Given the description of an element on the screen output the (x, y) to click on. 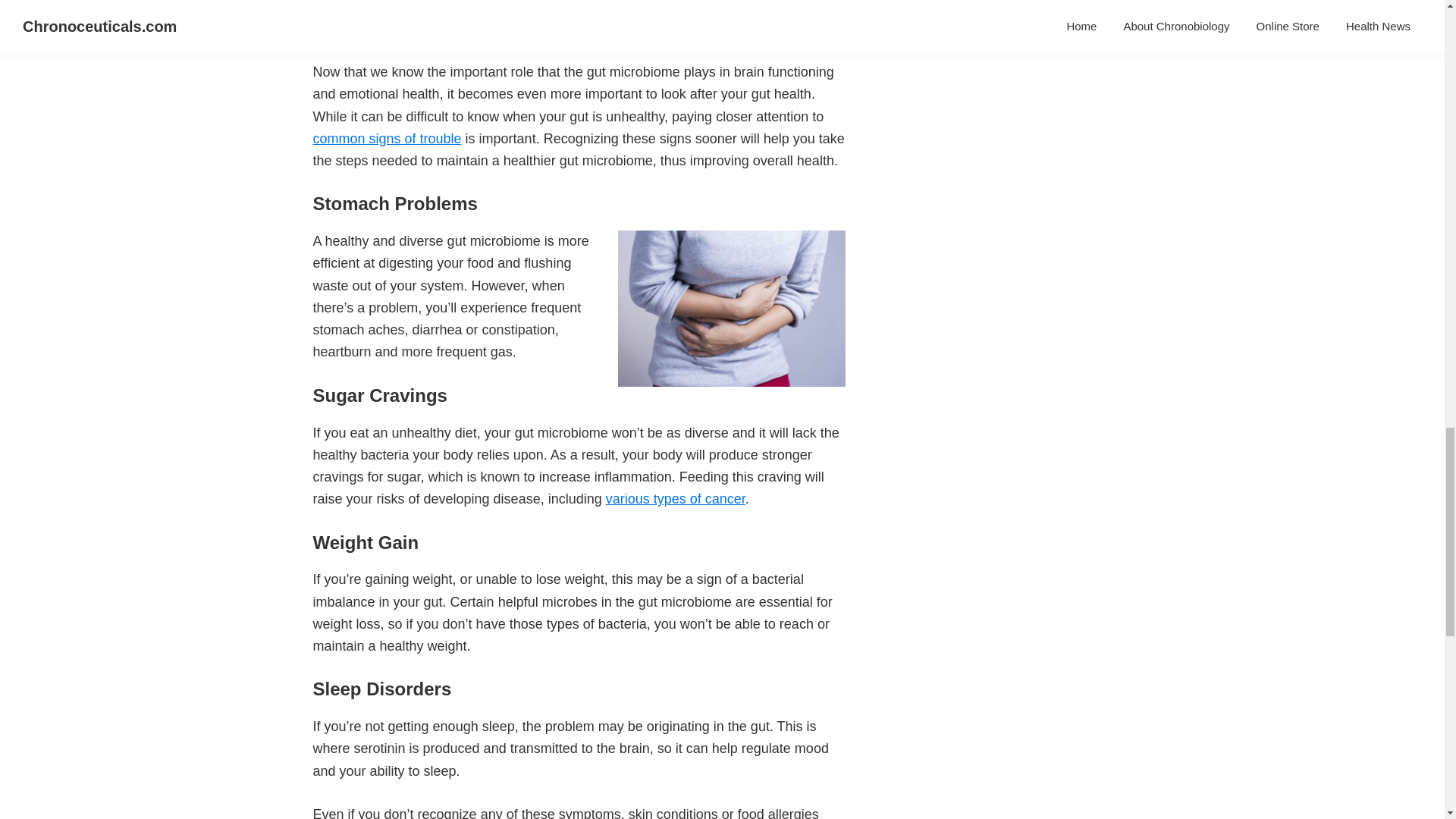
various types of cancer (675, 498)
Parkinson's Starts in the Gut, Suggests New Study 4 (730, 308)
common signs of trouble (387, 138)
